Given the description of an element on the screen output the (x, y) to click on. 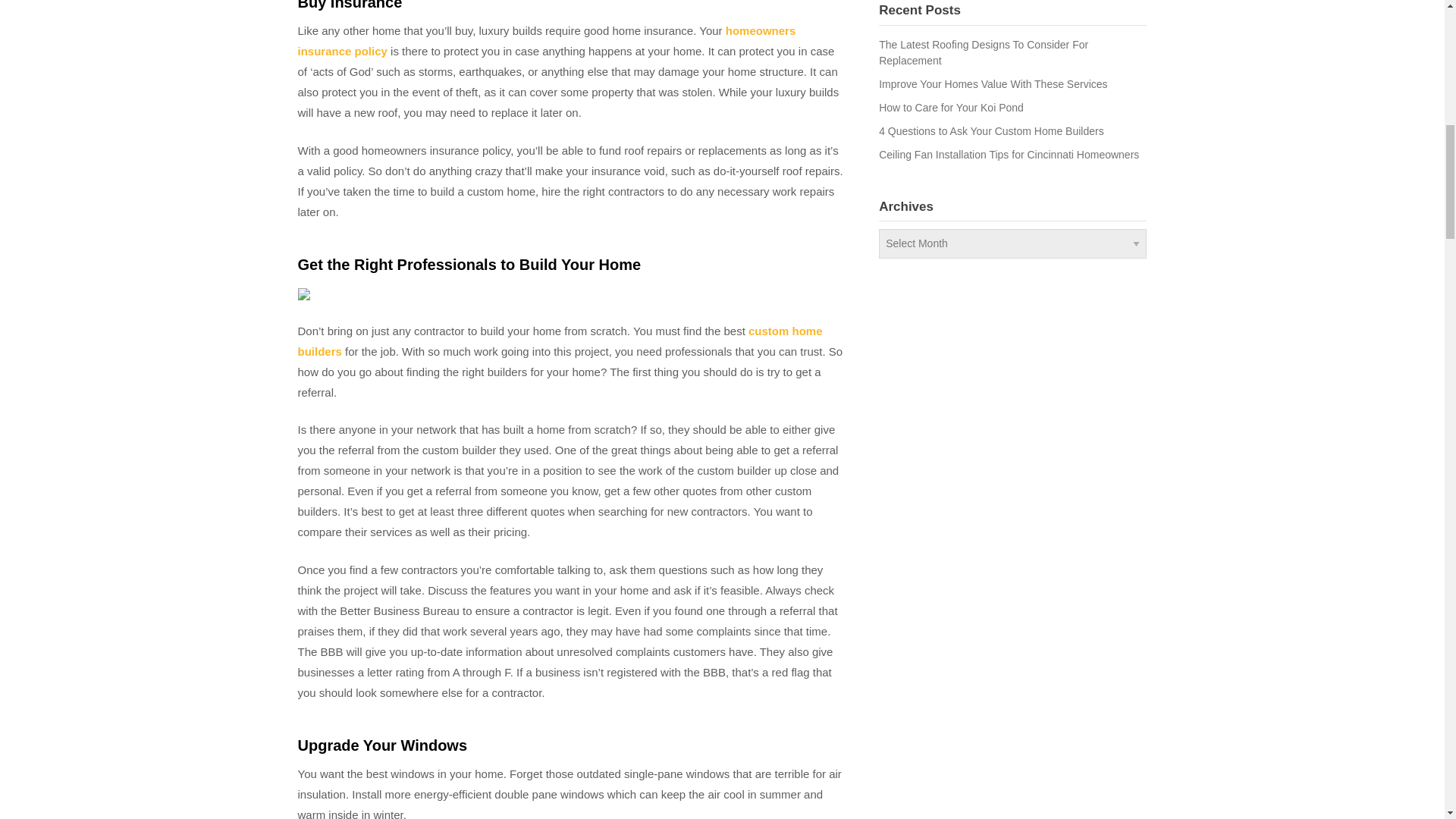
custom home builders (559, 340)
How to Care for Your Koi Pond (951, 107)
Ceiling Fan Installation Tips for Cincinnati Homeowners (1008, 154)
homeowners insurance policy (545, 40)
Improve Your Homes Value With These Services (992, 83)
The Latest Roofing Designs To Consider For Replacement (983, 52)
4 Questions to Ask Your Custom Home Builders (991, 131)
